Given the description of an element on the screen output the (x, y) to click on. 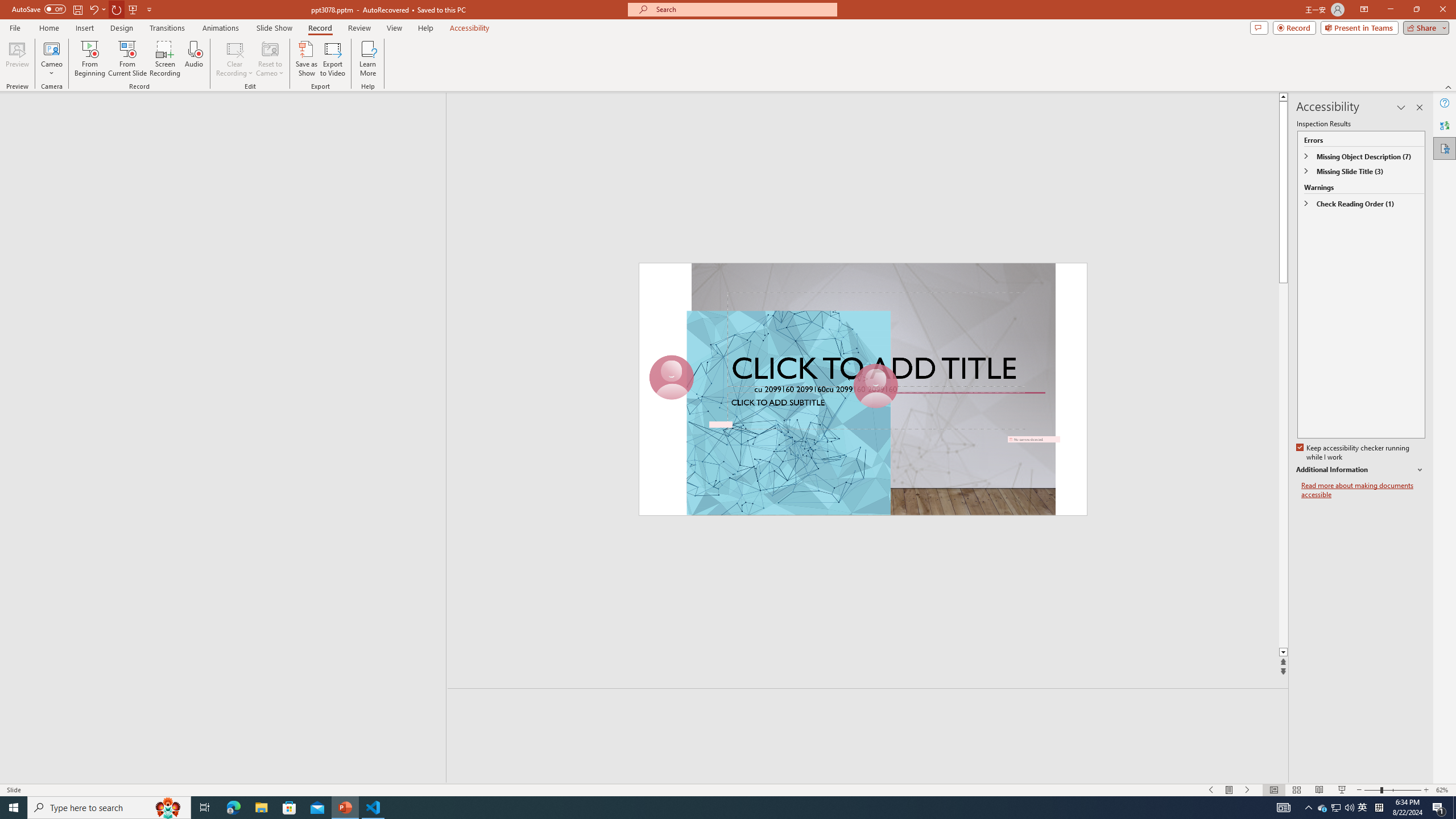
Menu On (1229, 790)
